Given the description of an element on the screen output the (x, y) to click on. 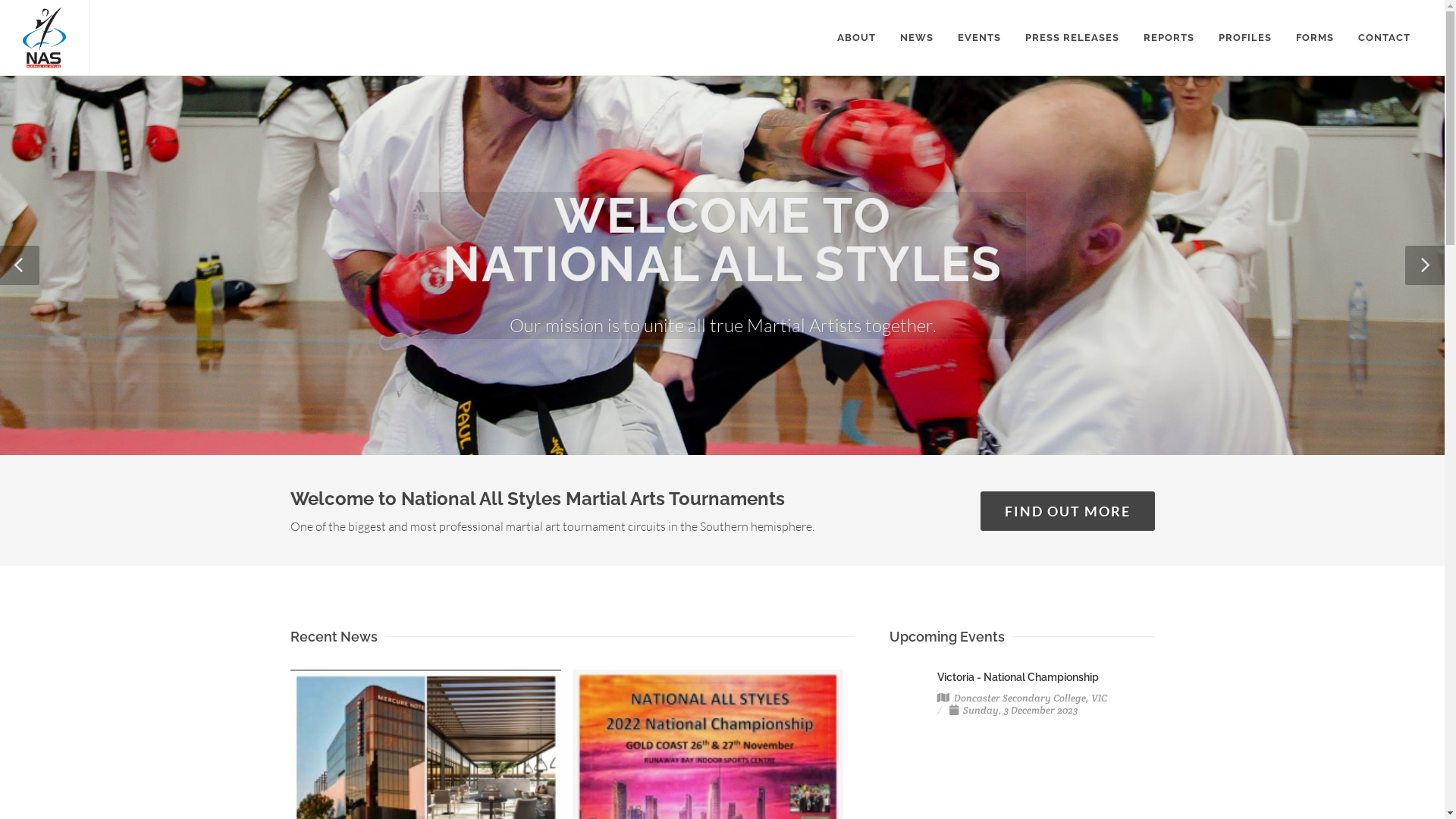
CONTACT Element type: text (1383, 37)
PRESS RELEASES Element type: text (1071, 37)
REPORTS Element type: text (1168, 37)
Victoria - National Championship Element type: text (1017, 677)
FORMS Element type: text (1314, 37)
EVENTS Element type: text (979, 37)
PROFILES Element type: text (1245, 37)
FIND OUT MORE Element type: text (1066, 510)
NEWS Element type: text (916, 37)
ABOUT Element type: text (856, 37)
